Given the description of an element on the screen output the (x, y) to click on. 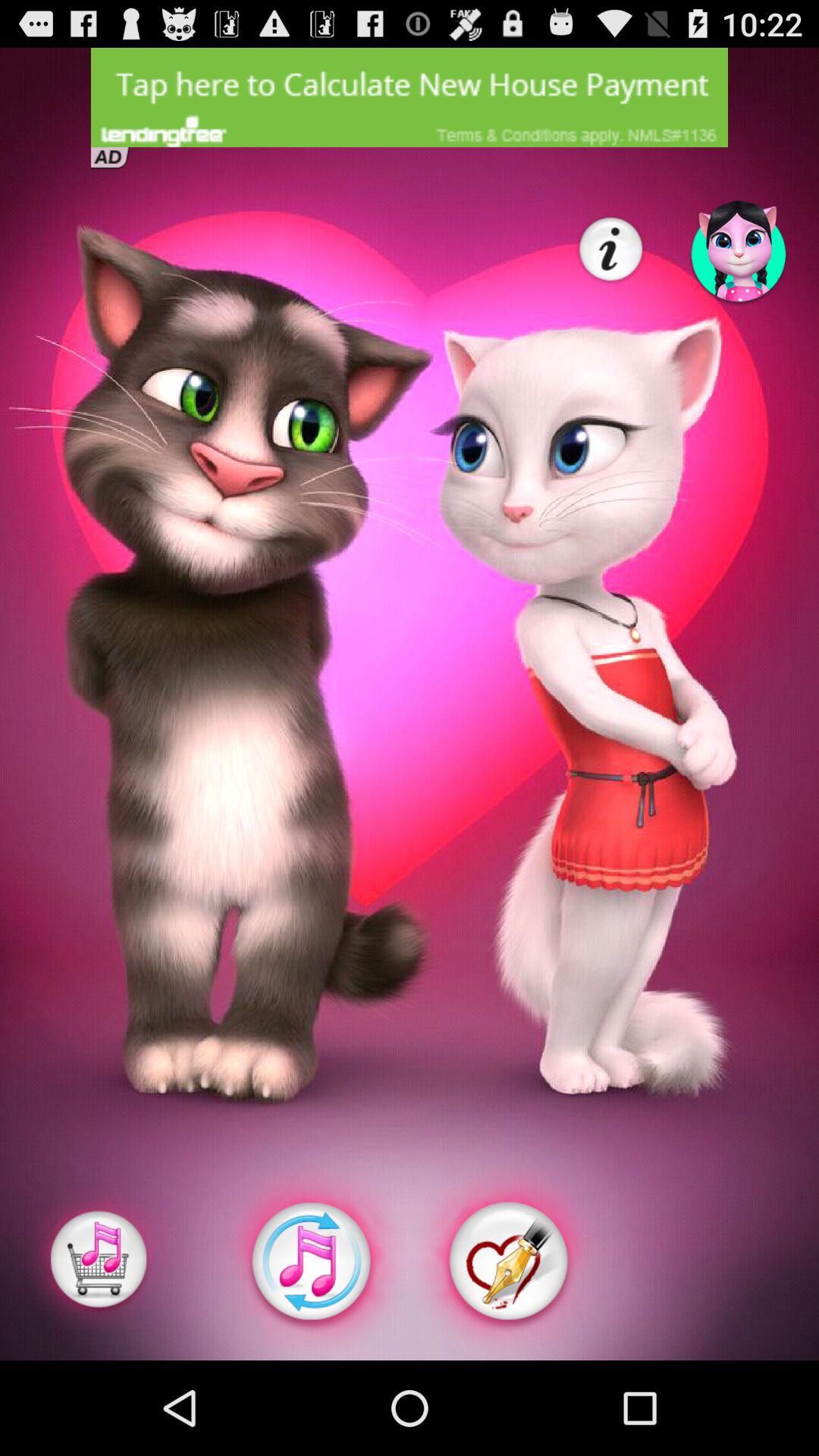
repeat music (310, 1261)
